Given the description of an element on the screen output the (x, y) to click on. 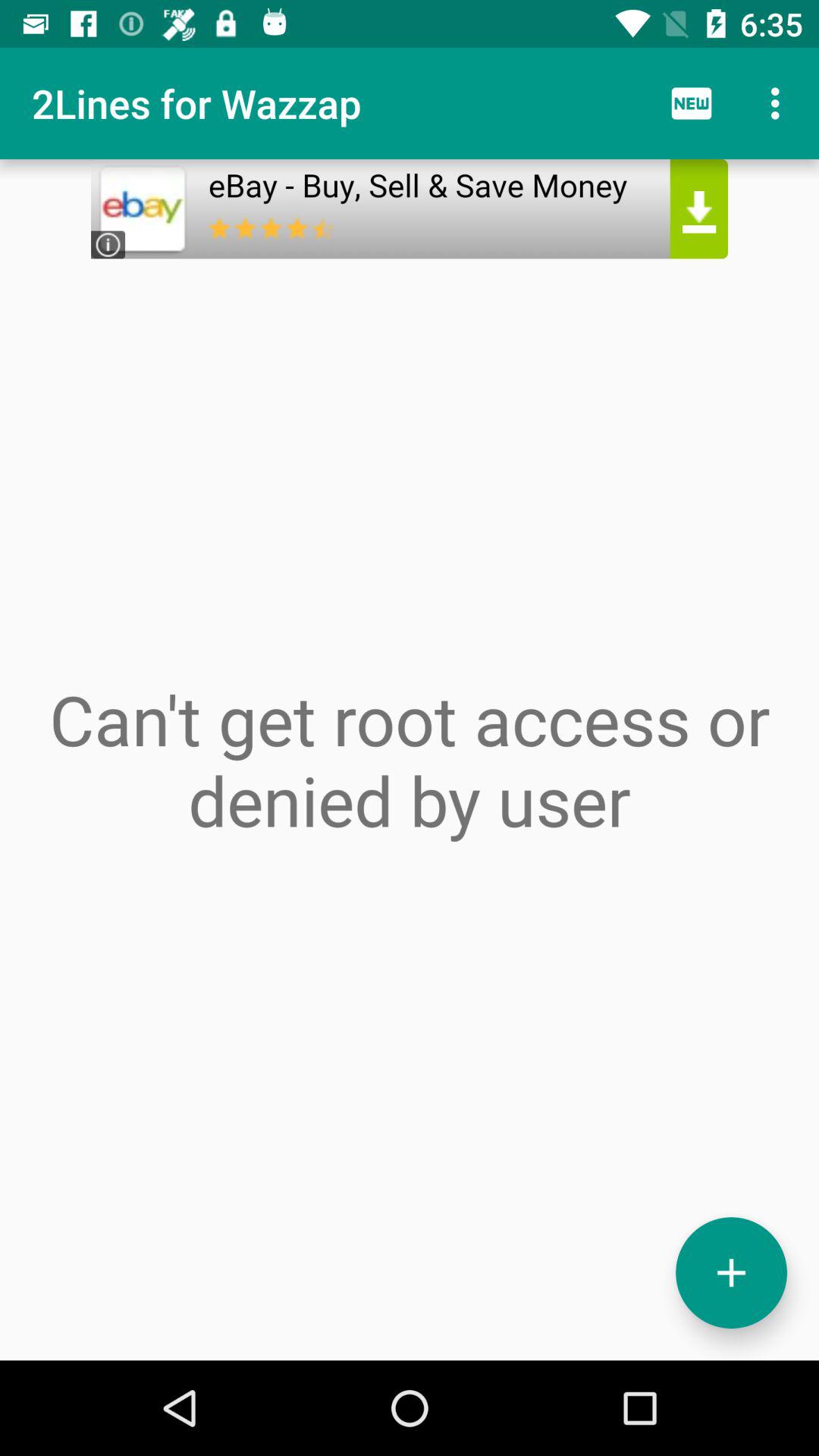
tap the can t get icon (409, 759)
